Given the description of an element on the screen output the (x, y) to click on. 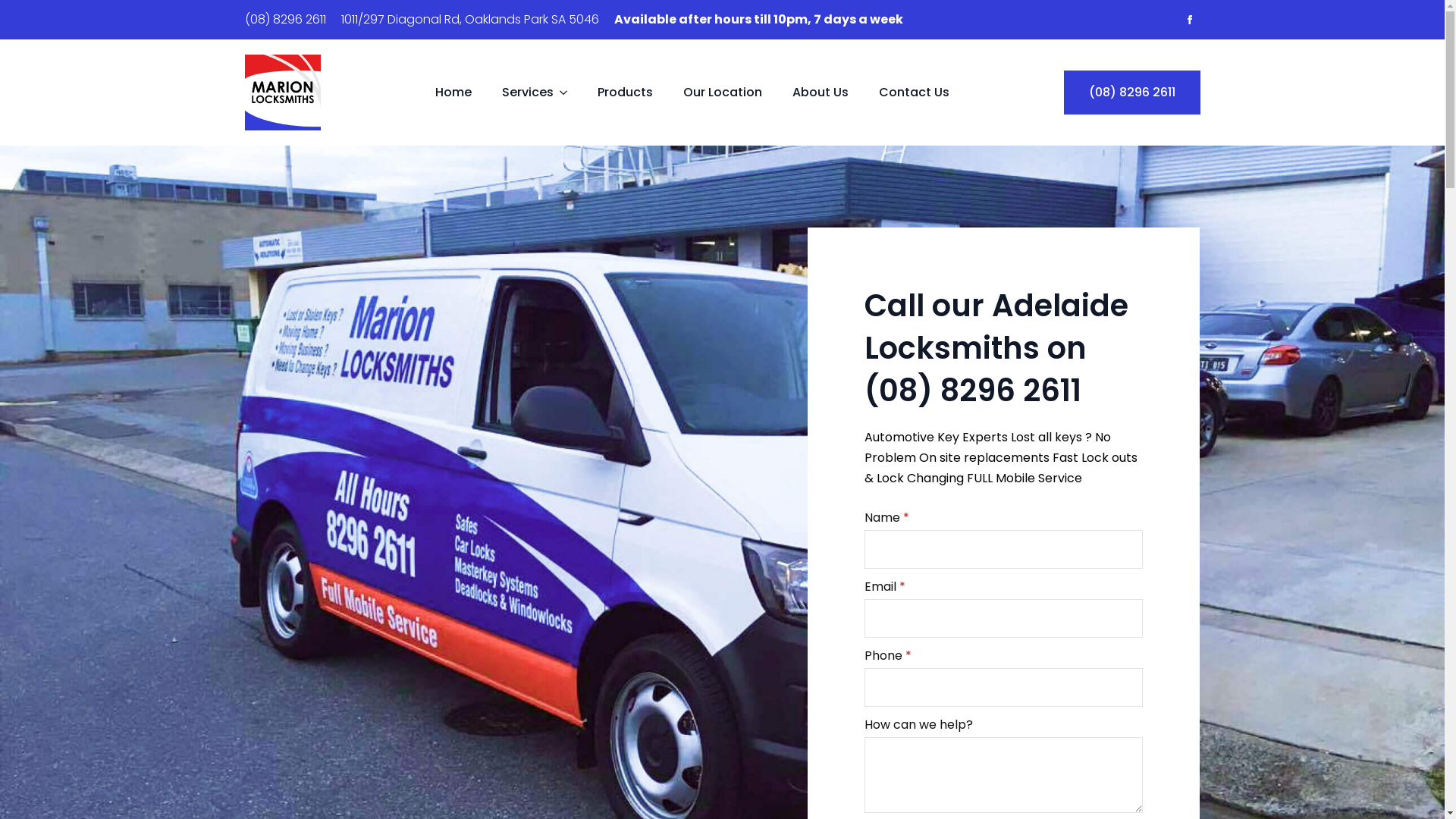
Services Element type: text (534, 92)
Home Element type: text (453, 92)
(08) 8296 2611 Element type: text (284, 19)
About Us Element type: text (819, 92)
(08) 8296 2611 Element type: text (1131, 92)
Products Element type: text (625, 92)
Contact Us Element type: text (912, 92)
Our Location Element type: text (721, 92)
1011/297 Diagonal Rd, Oaklands Park SA 5046 Element type: text (470, 19)
